Given the description of an element on the screen output the (x, y) to click on. 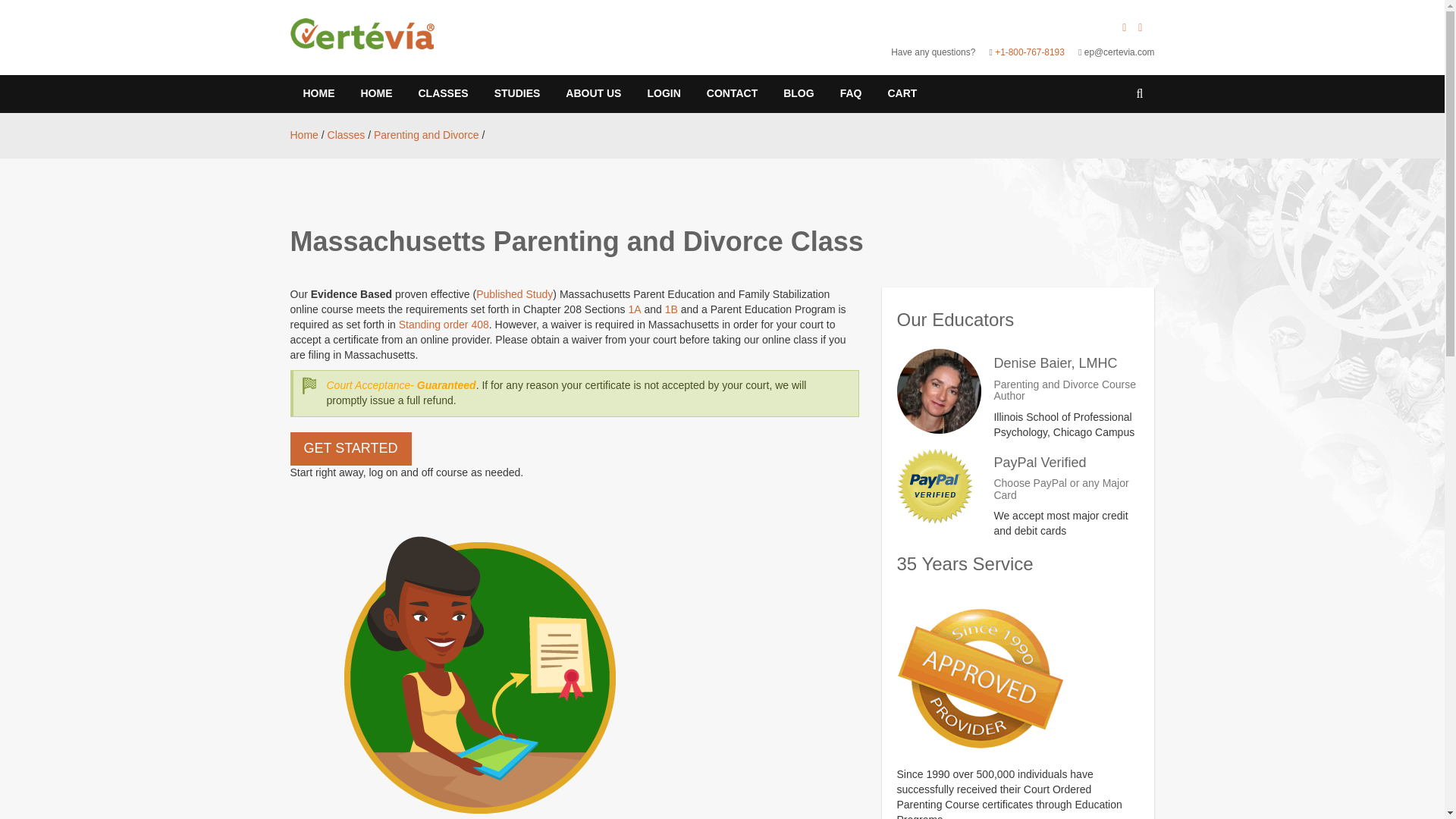
HOME (318, 94)
Standing Order 408 (443, 324)
Parenting and Divorce (426, 135)
Massachusetts Section 208 1B (671, 309)
Massachusetts Section 208 1A (633, 309)
CONTACT (732, 94)
Classes (346, 135)
STUDIES (517, 94)
LOGIN (663, 94)
FAQ (851, 94)
BLOG (798, 94)
Home (303, 135)
ABOUT US (593, 94)
HOME (375, 94)
CLASSES (442, 94)
